Given the description of an element on the screen output the (x, y) to click on. 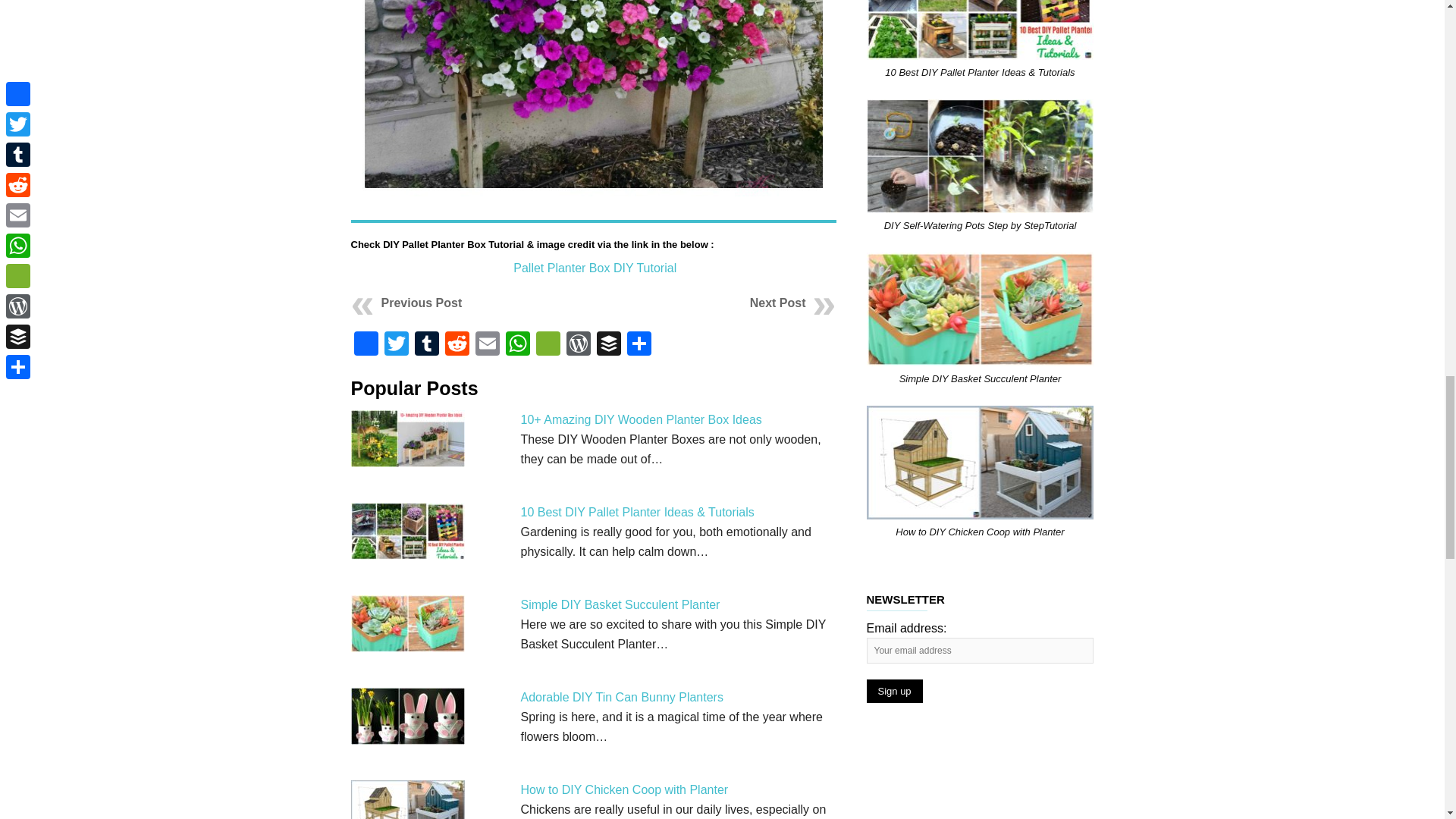
WordPress (577, 345)
WordPress (577, 345)
Facebook (365, 345)
Twitter (395, 345)
Buffer (607, 345)
 Pallet Planter Box DIY Tutorial (594, 267)
WeChat (547, 345)
Previous Post (420, 302)
Tumblr (425, 345)
Next Post (777, 302)
Sign up (893, 690)
Email (486, 345)
Reddit (456, 345)
Twitter (395, 345)
Reddit (456, 345)
